Given the description of an element on the screen output the (x, y) to click on. 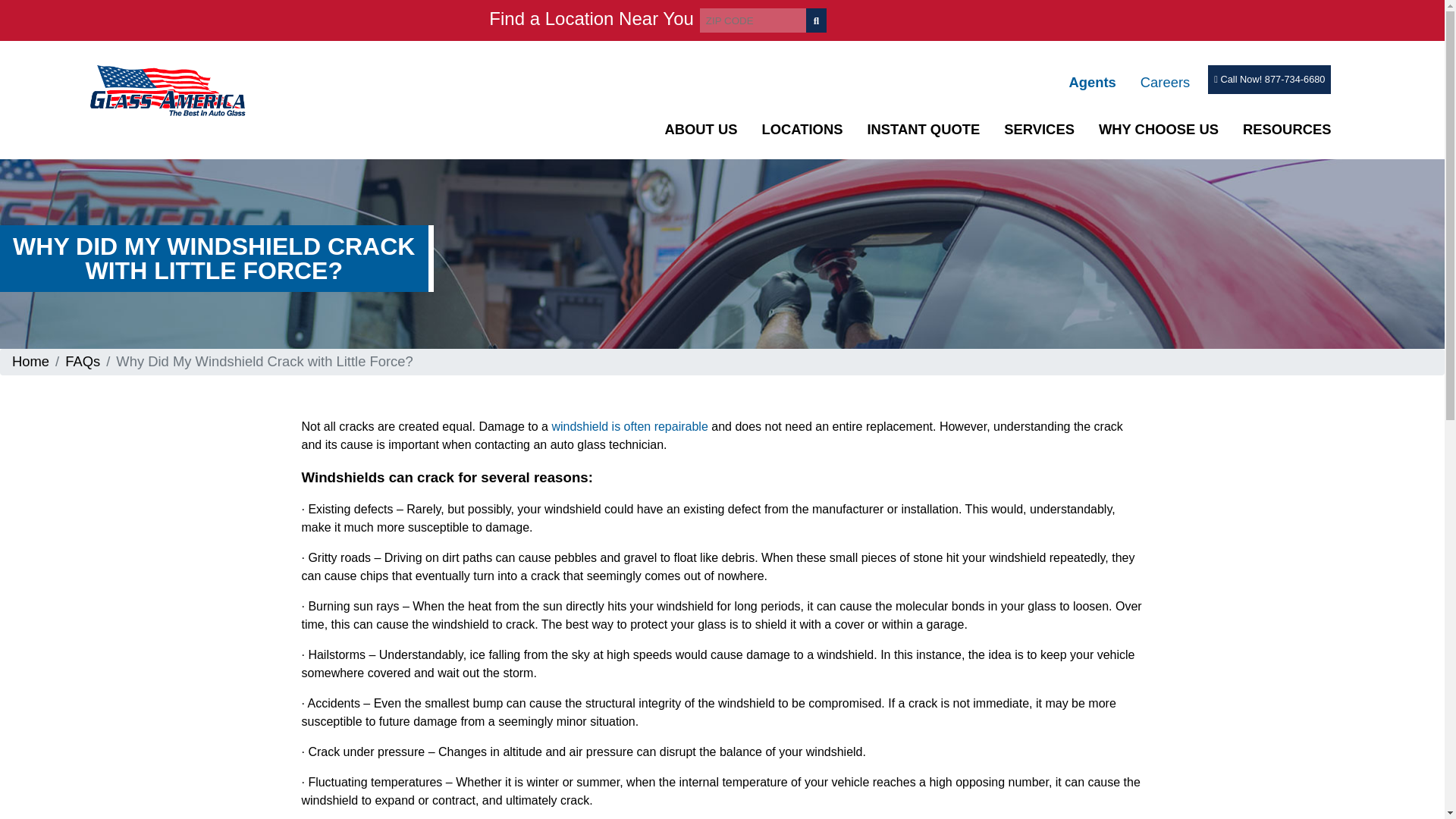
ABOUT US (699, 129)
Home (30, 360)
Careers (1164, 82)
WHY CHOOSE US (1158, 129)
windshield is often repairable (629, 426)
INSTANT QUOTE (922, 129)
FAQs (82, 360)
LOCATIONS (802, 129)
Agents (1091, 82)
Call Now! 877-734-6680 (1269, 79)
SERVICES (1039, 129)
RESOURCES (1287, 129)
